Given the description of an element on the screen output the (x, y) to click on. 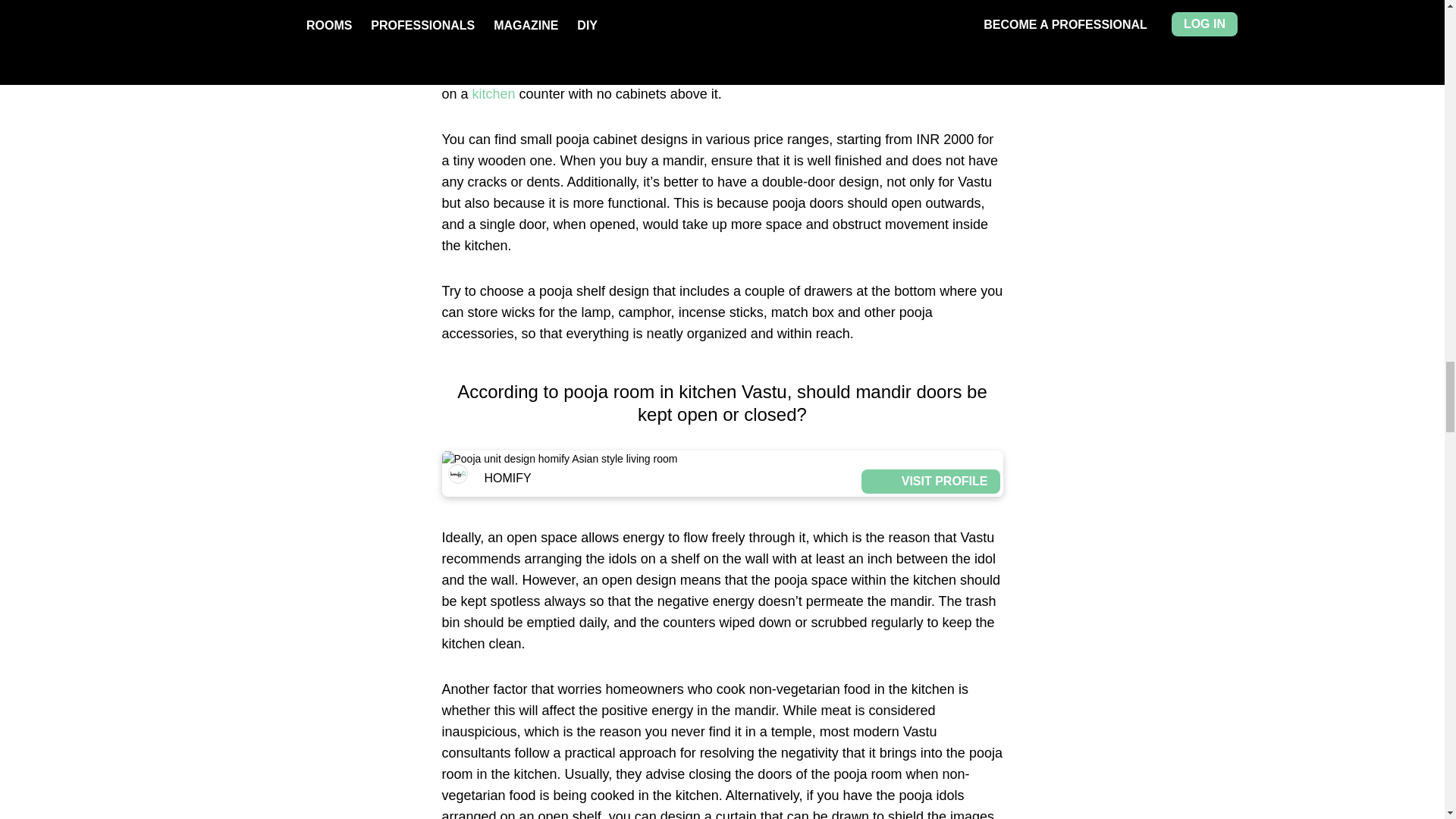
HOMIFY (652, 3)
kitchen (493, 93)
VISIT PROFILE (929, 3)
